Given the description of an element on the screen output the (x, y) to click on. 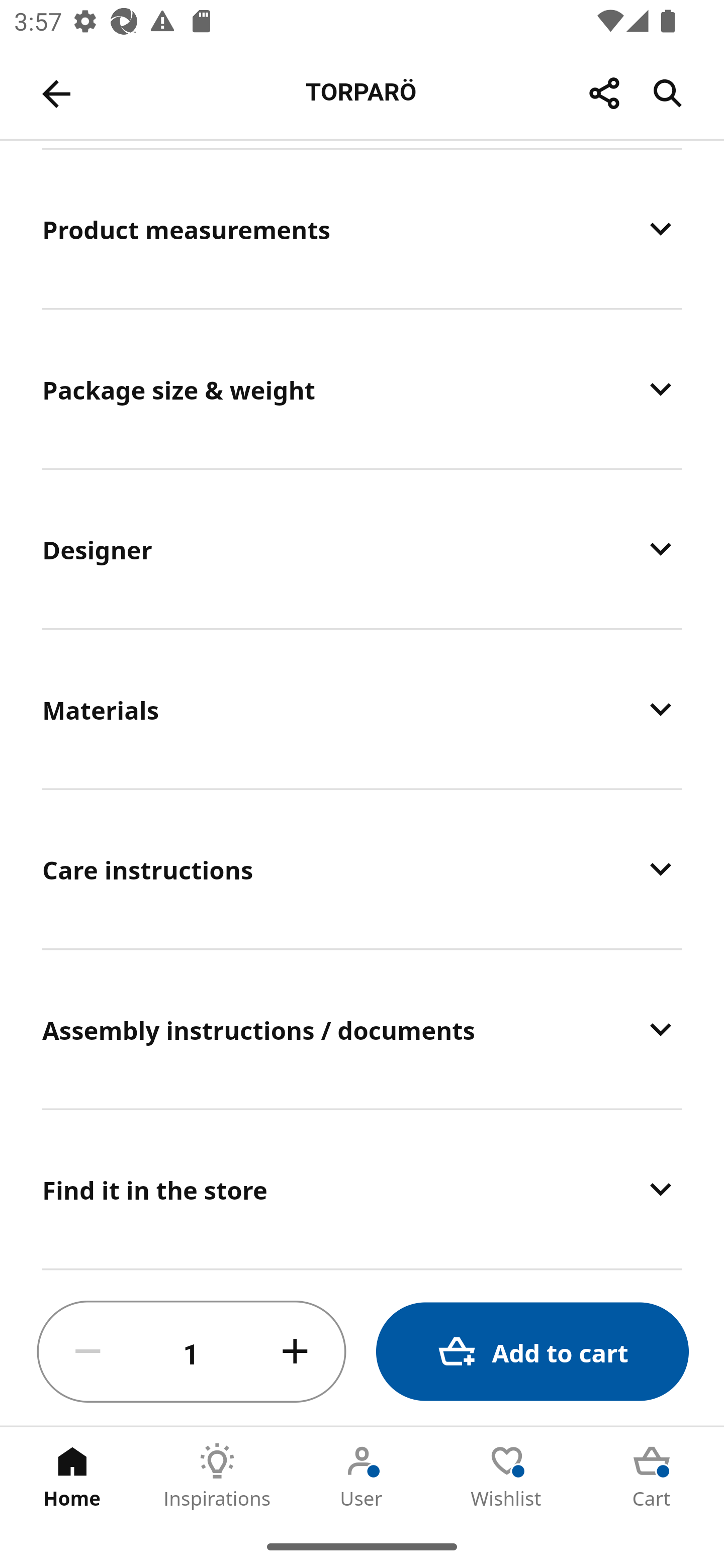
Product measurements (361, 227)
Package size & weight (361, 388)
Designer (361, 548)
Materials (361, 709)
Care instructions (361, 869)
Assembly instructions / documents (361, 1029)
Find it in the store (361, 1188)
Add to cart (531, 1352)
1 (191, 1352)
Home
Tab 1 of 5 (72, 1476)
Inspirations
Tab 2 of 5 (216, 1476)
User
Tab 3 of 5 (361, 1476)
Wishlist
Tab 4 of 5 (506, 1476)
Cart
Tab 5 of 5 (651, 1476)
